Given the description of an element on the screen output the (x, y) to click on. 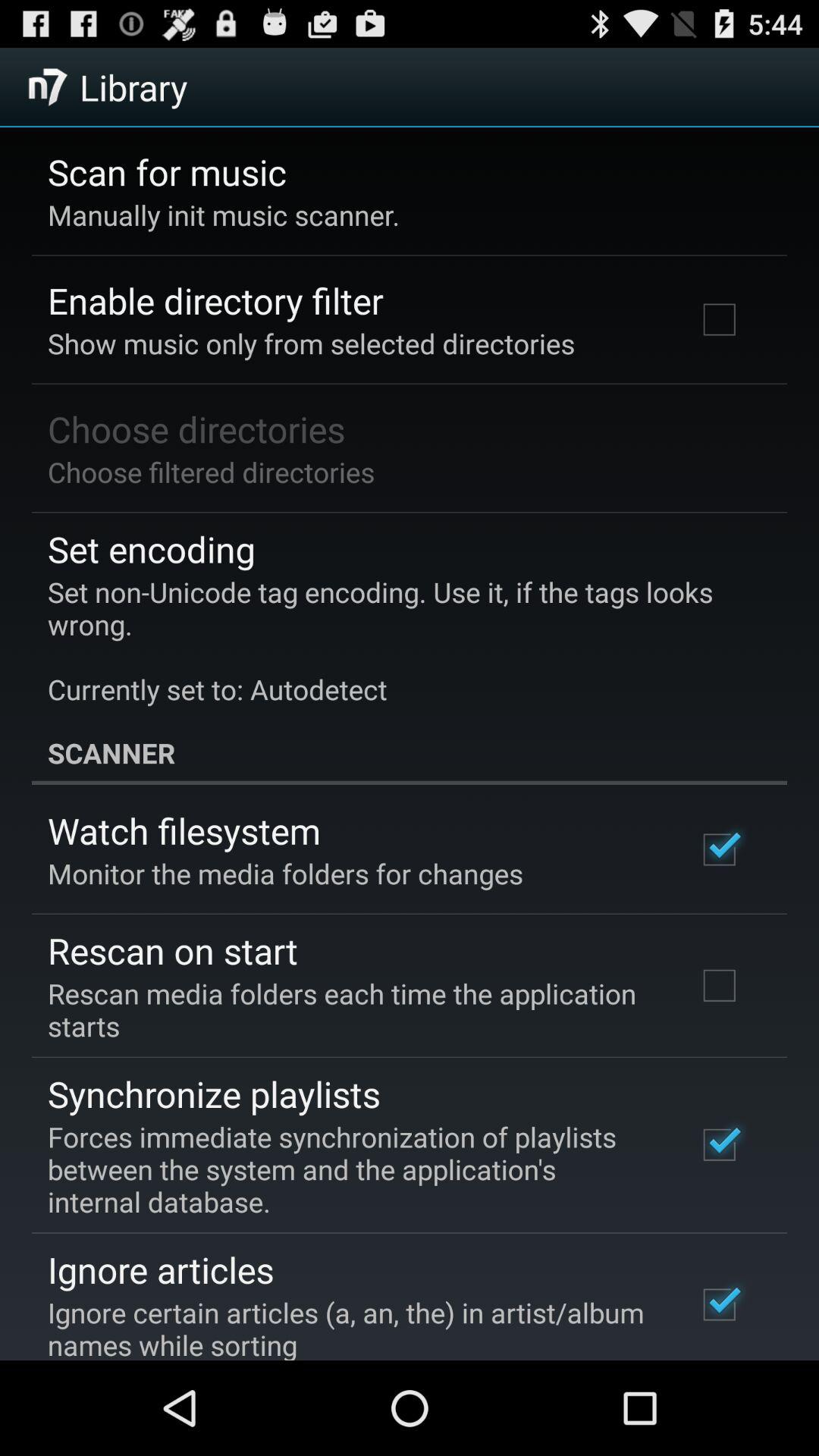
click on the text which is on left side of library (48, 87)
